Given the description of an element on the screen output the (x, y) to click on. 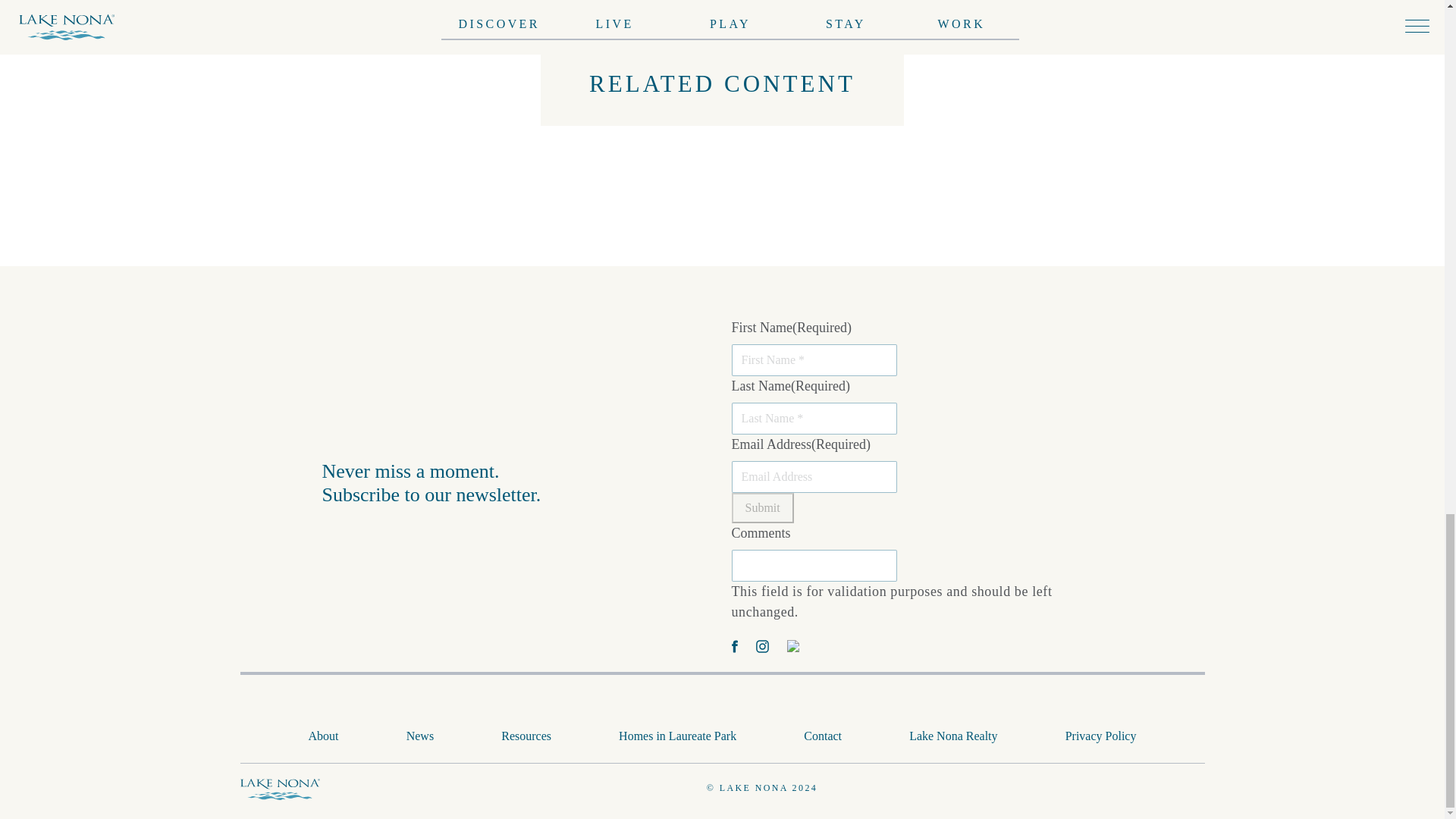
Submit (761, 507)
Resources (525, 735)
About (323, 735)
News (419, 735)
